Given the description of an element on the screen output the (x, y) to click on. 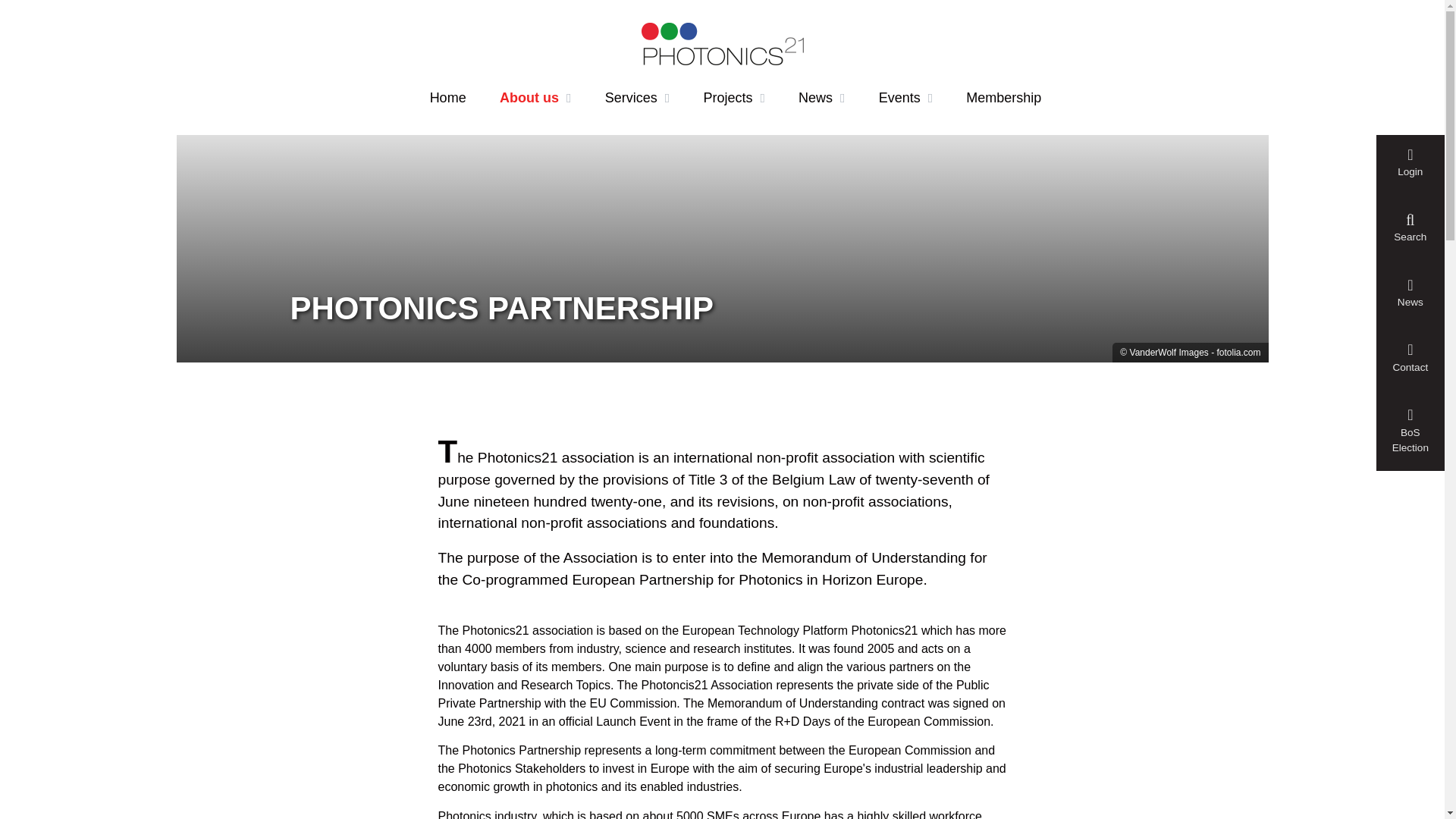
Home (448, 98)
About us (534, 98)
Services (637, 98)
